Given the description of an element on the screen output the (x, y) to click on. 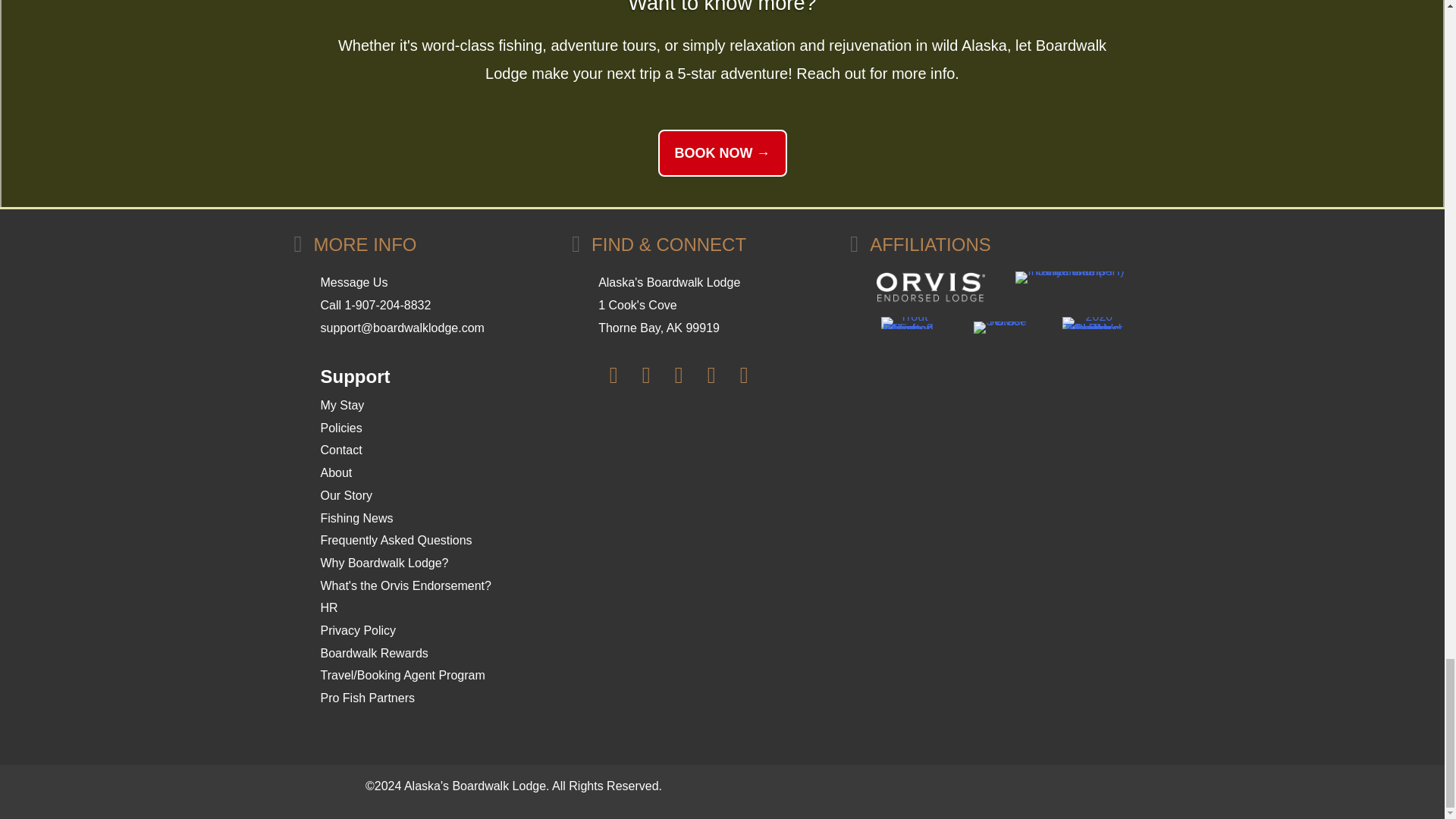
Facebook (613, 375)
orvis-endorsed-fly-fishing-lodge-logo-600 (930, 286)
LinkedIn (710, 375)
YouTube (678, 375)
Email (743, 375)
Trout-Unlimited-Logo-600 (907, 322)
usda-logo-tongass-national-forest (1000, 327)
